Given the description of an element on the screen output the (x, y) to click on. 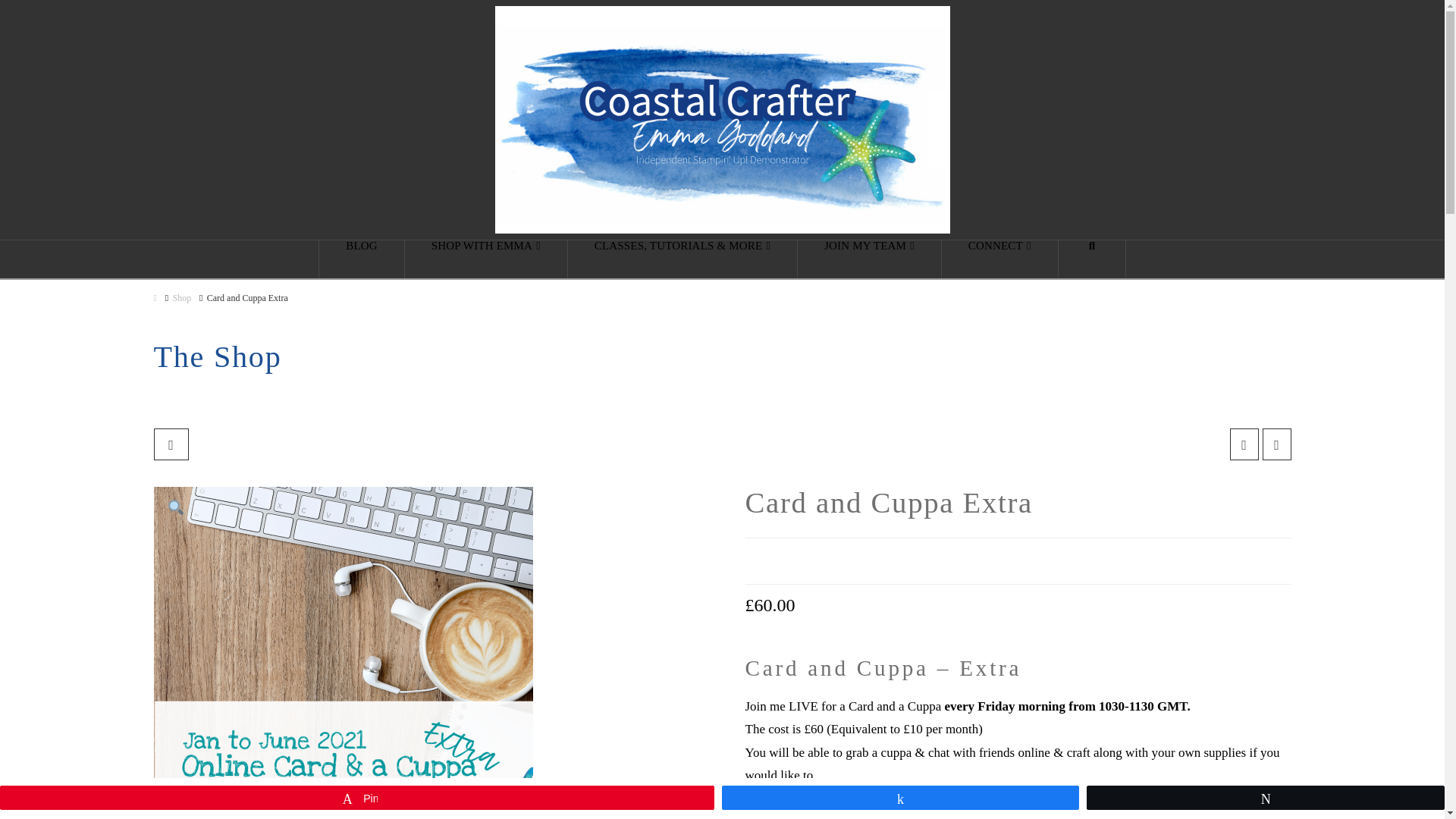
See All Posts (169, 444)
JOIN MY TEAM (869, 259)
CONNECT (1000, 259)
SHOP WITH EMMA (485, 259)
You Are Here (247, 297)
BLOG (361, 259)
